Given the description of an element on the screen output the (x, y) to click on. 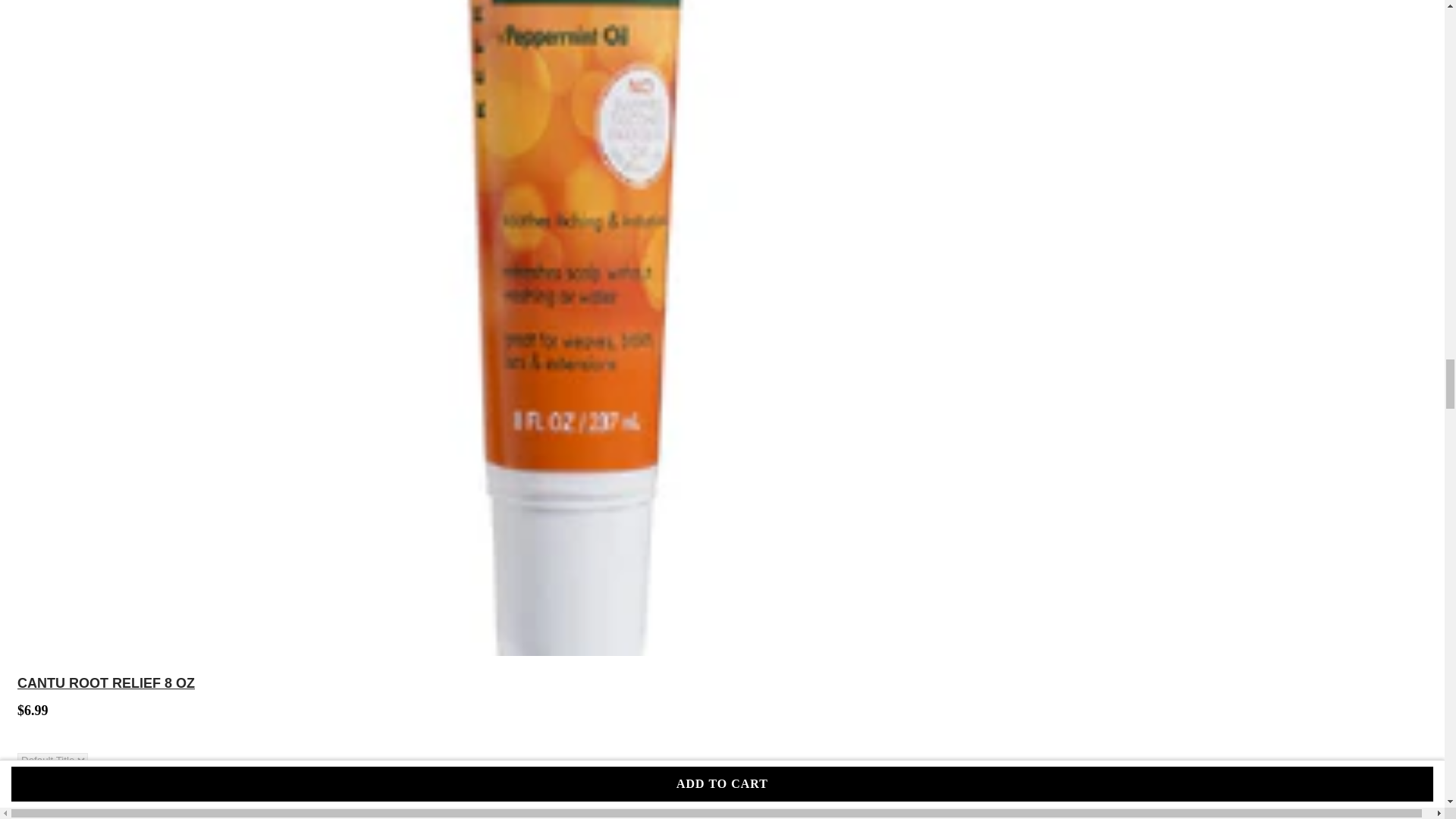
Add to Cart (585, 784)
Add To Wishlist (1169, 765)
